Given the description of an element on the screen output the (x, y) to click on. 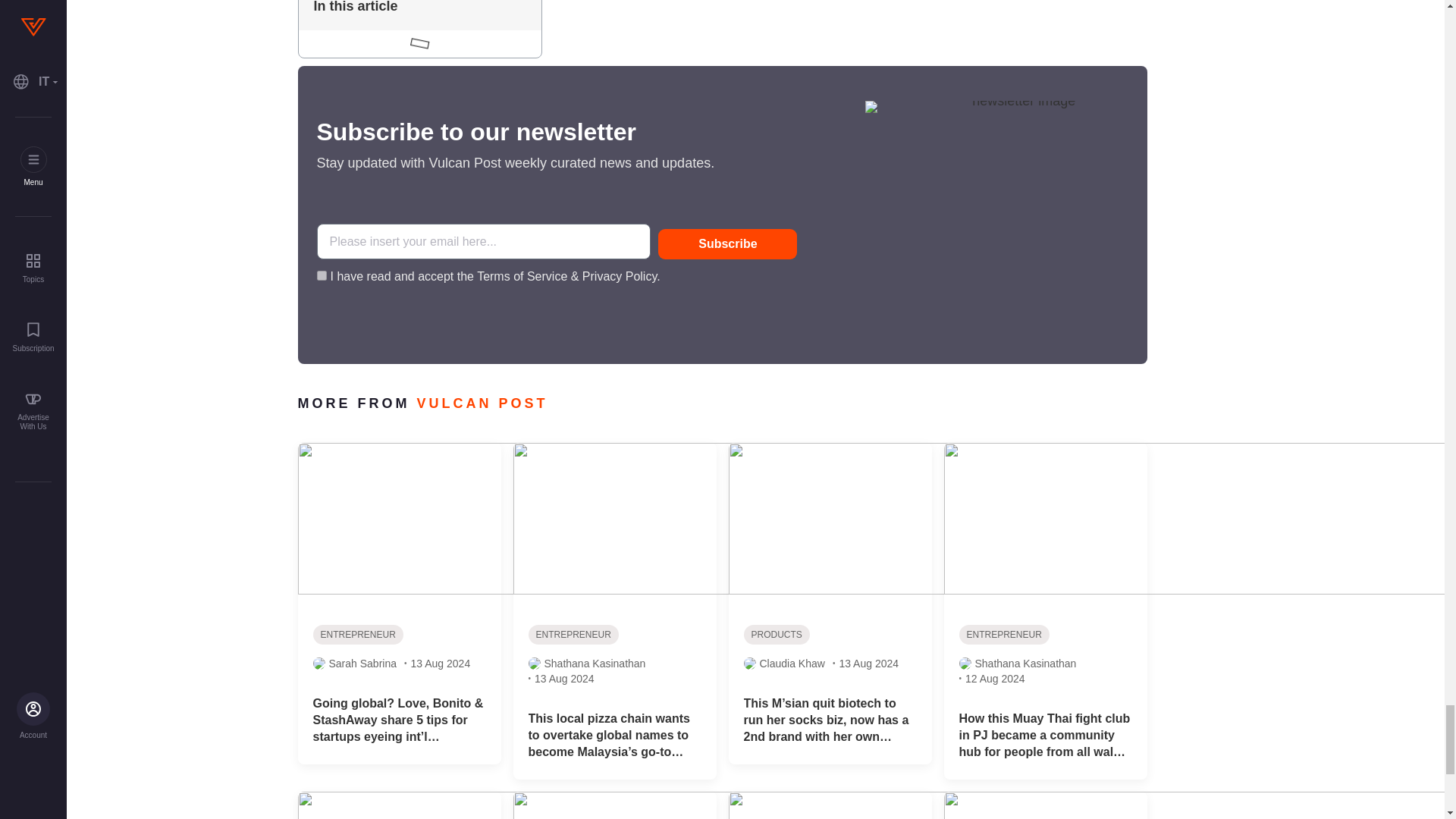
on (321, 275)
Subscribe (727, 244)
